Given the description of an element on the screen output the (x, y) to click on. 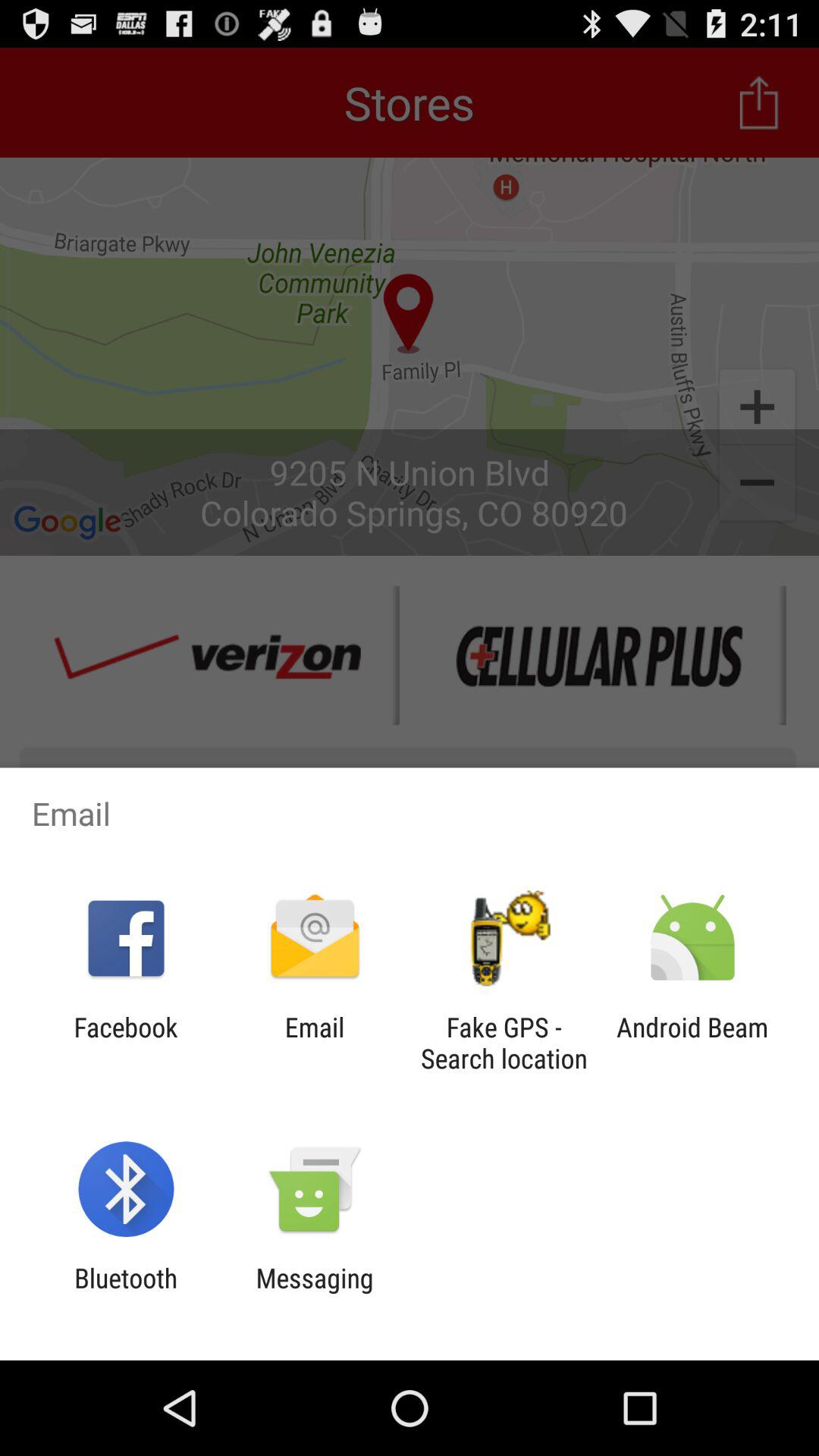
press item to the right of bluetooth app (314, 1293)
